Given the description of an element on the screen output the (x, y) to click on. 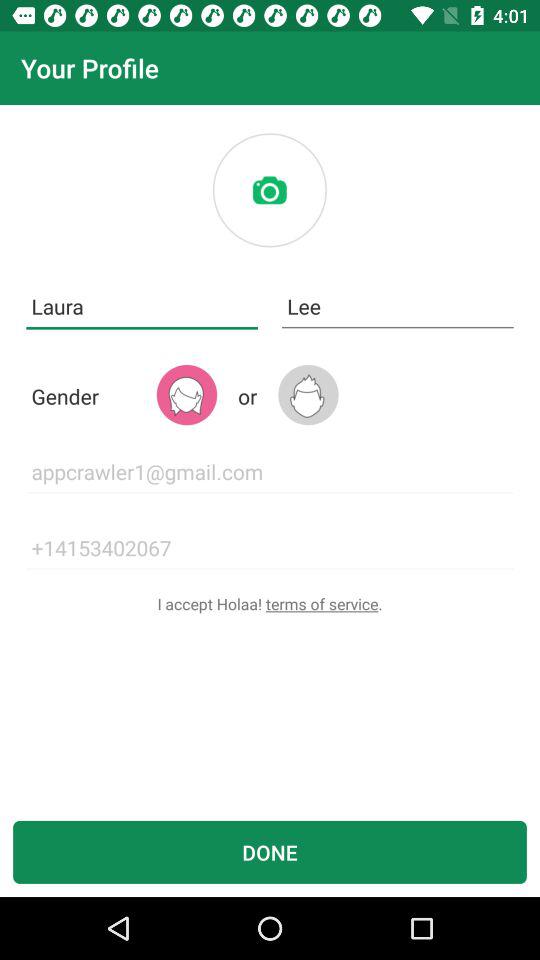
select the item next to the gender item (186, 394)
